Given the description of an element on the screen output the (x, y) to click on. 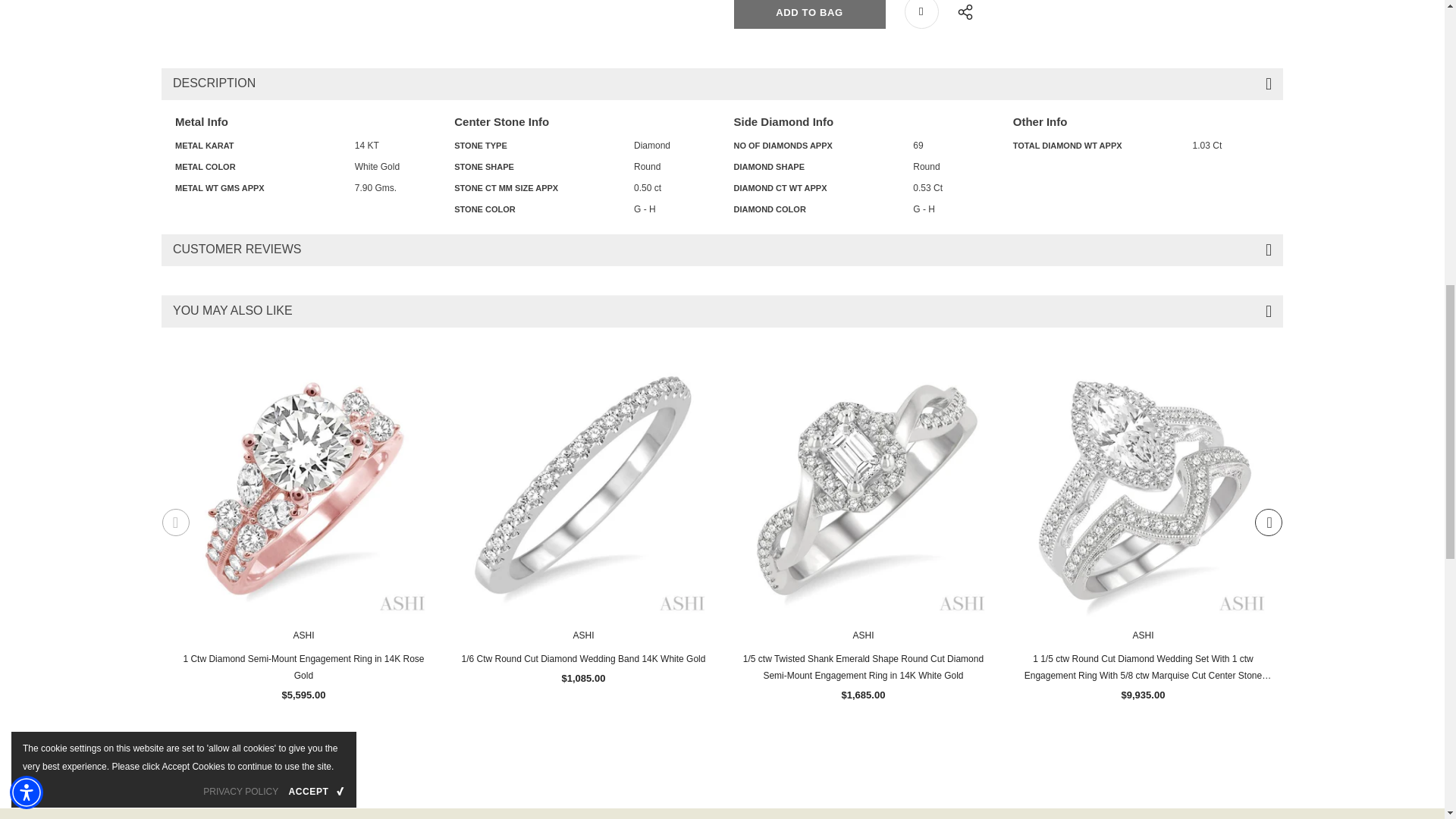
Add to Bag (809, 14)
